Given the description of an element on the screen output the (x, y) to click on. 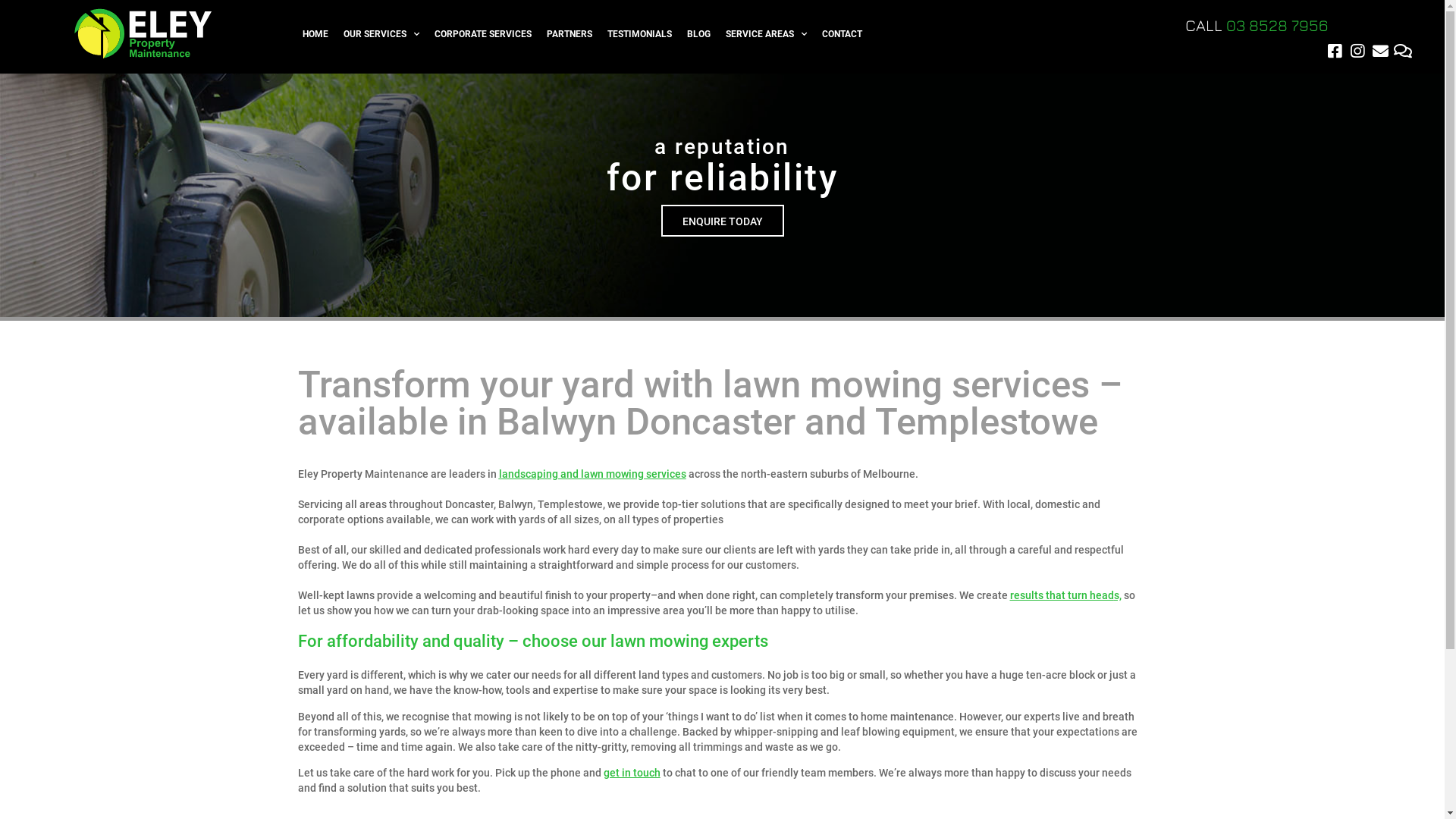
PARTNERS Element type: text (569, 33)
HOME Element type: text (314, 33)
CORPORATE SERVICES Element type: text (482, 33)
CONTACT Element type: text (841, 33)
results that turn head Element type: text (1061, 595)
get in touch Element type: text (631, 772)
SERVICE AREAS Element type: text (766, 33)
BLOG Element type: text (698, 33)
TESTIMONIALS Element type: text (639, 33)
OUR SERVICES Element type: text (380, 33)
ENQUIRE TODAY Element type: text (722, 220)
landscaping and lawn mowing services Element type: text (592, 473)
